Given the description of an element on the screen output the (x, y) to click on. 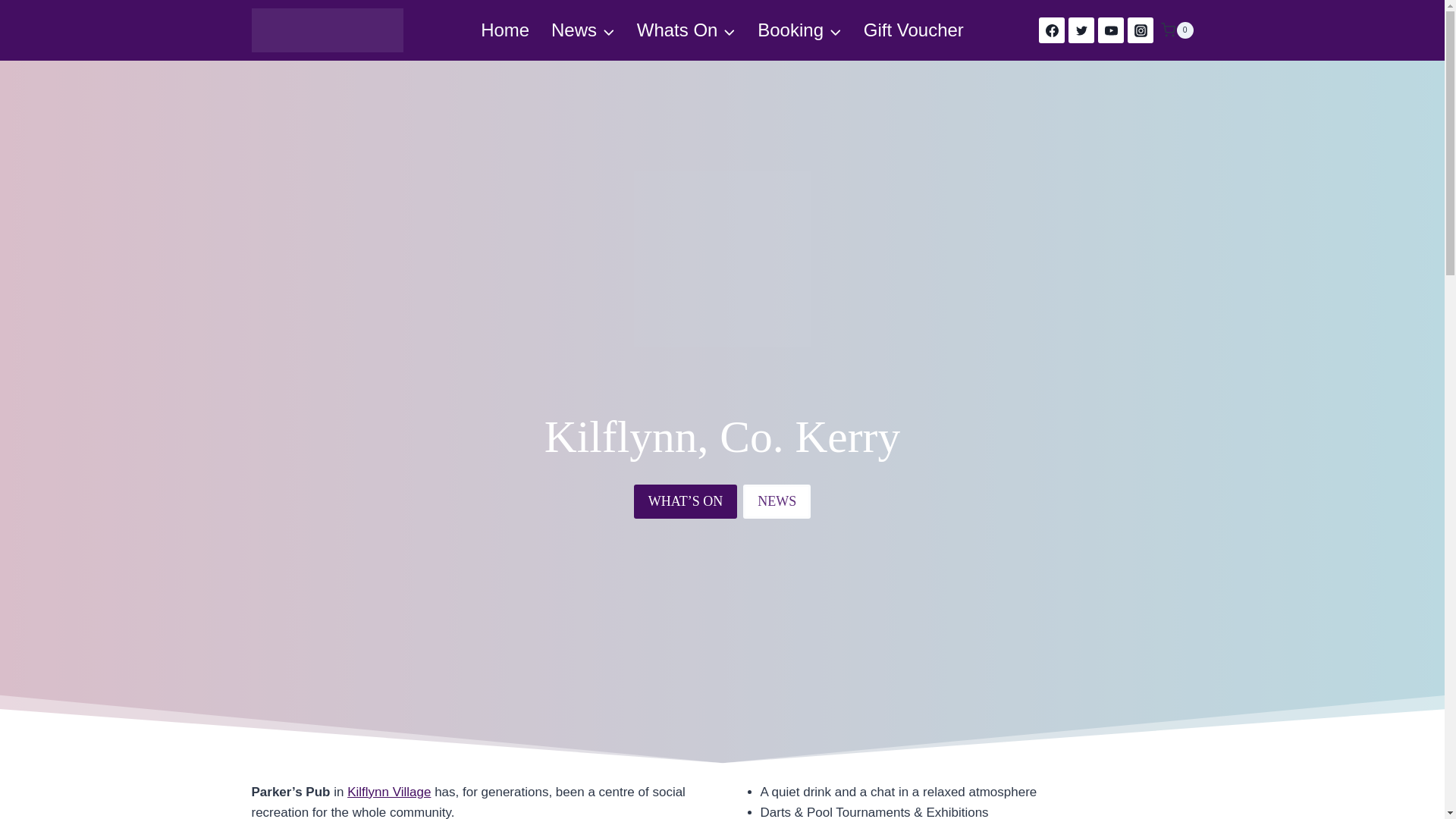
NEWS (776, 501)
Whats On (685, 29)
Booking (799, 29)
Home (505, 29)
0 (1176, 30)
Kilflynn Village (388, 791)
News (583, 29)
Gift Voucher (912, 29)
